Given the description of an element on the screen output the (x, y) to click on. 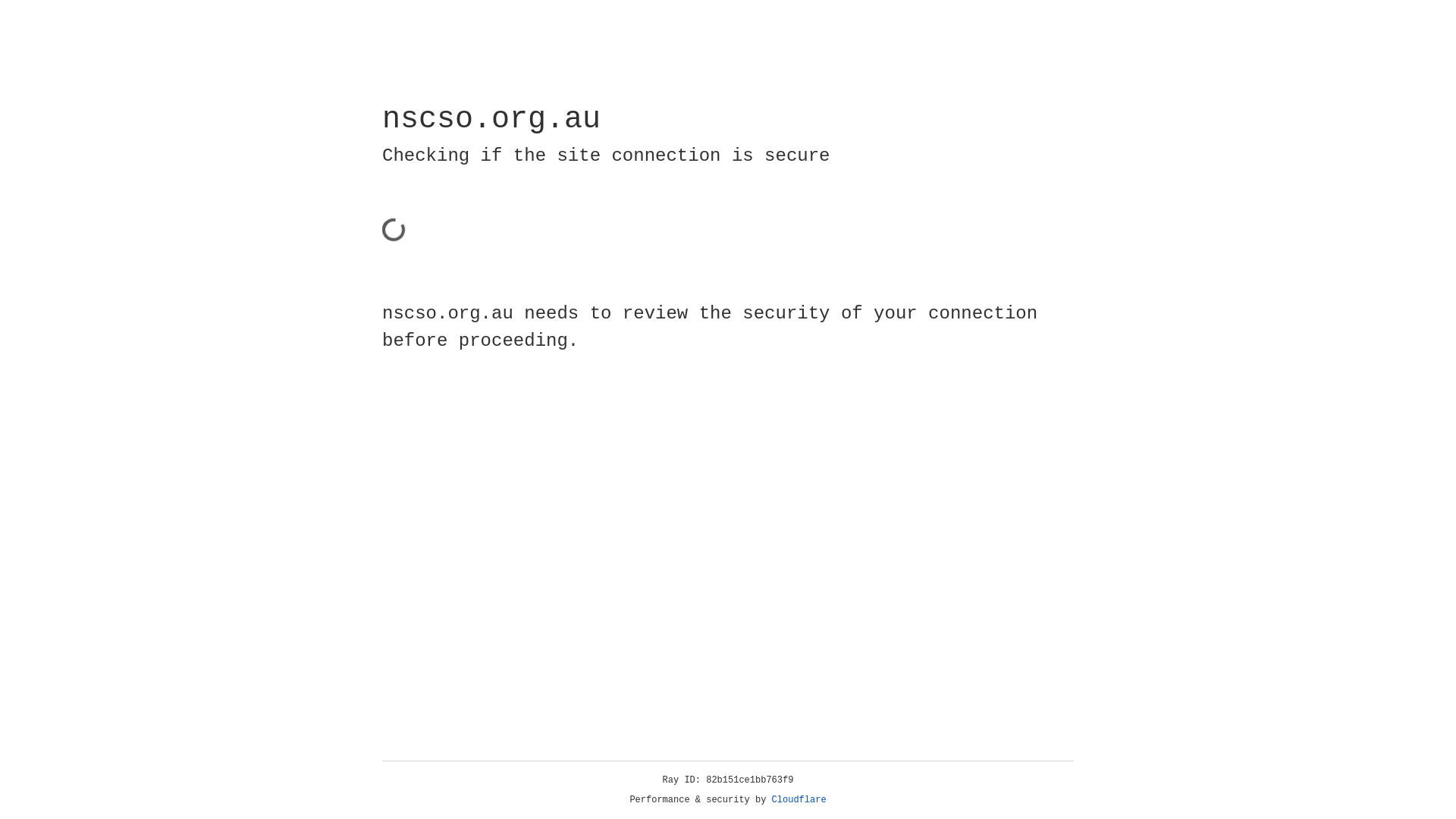
Cloudflare Element type: text (798, 799)
